Given the description of an element on the screen output the (x, y) to click on. 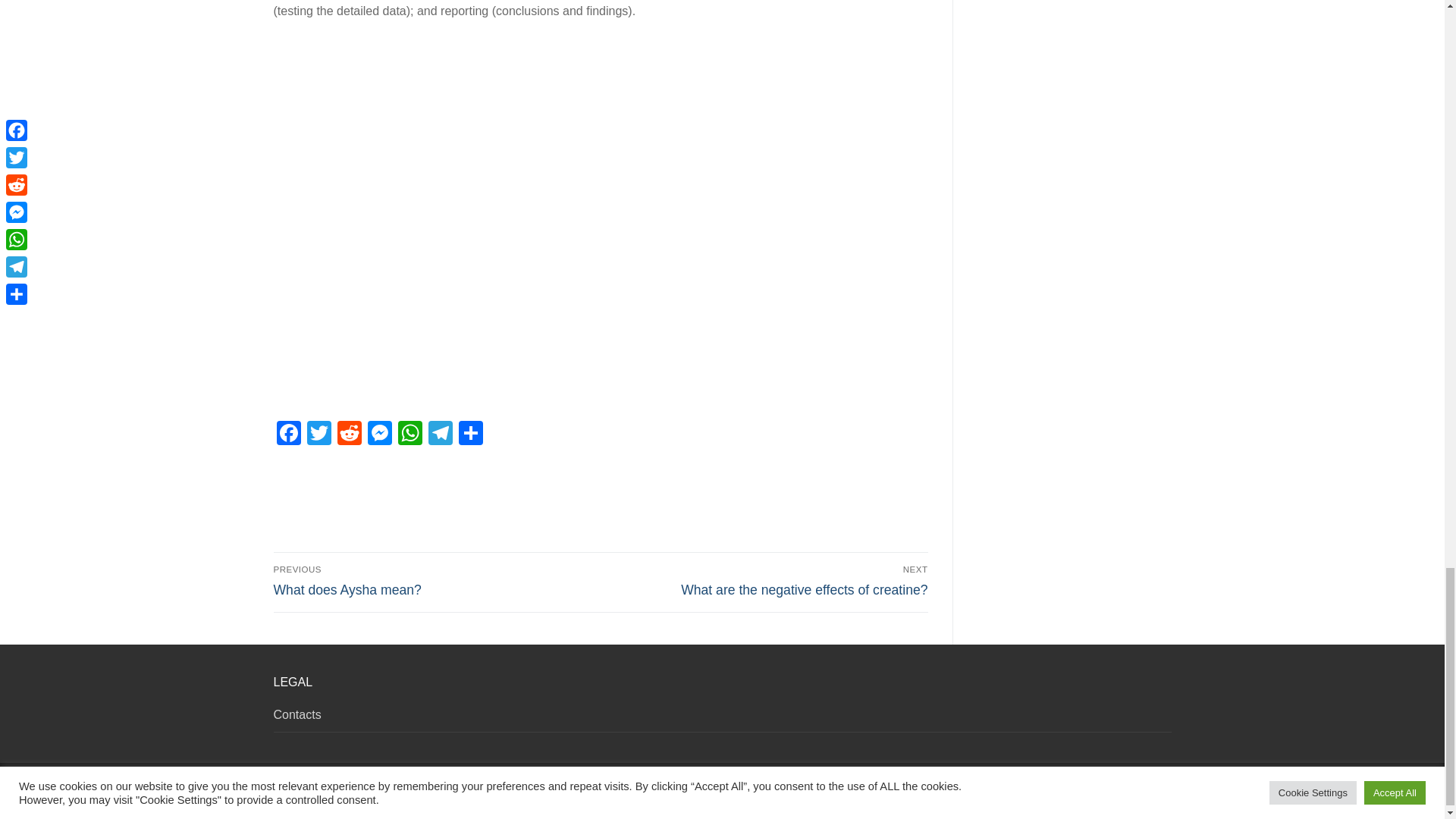
Reddit (348, 434)
Telegram (439, 434)
Facebook (433, 581)
Telegram (287, 434)
Messenger (767, 581)
Twitter (439, 434)
Share (379, 434)
